Given the description of an element on the screen output the (x, y) to click on. 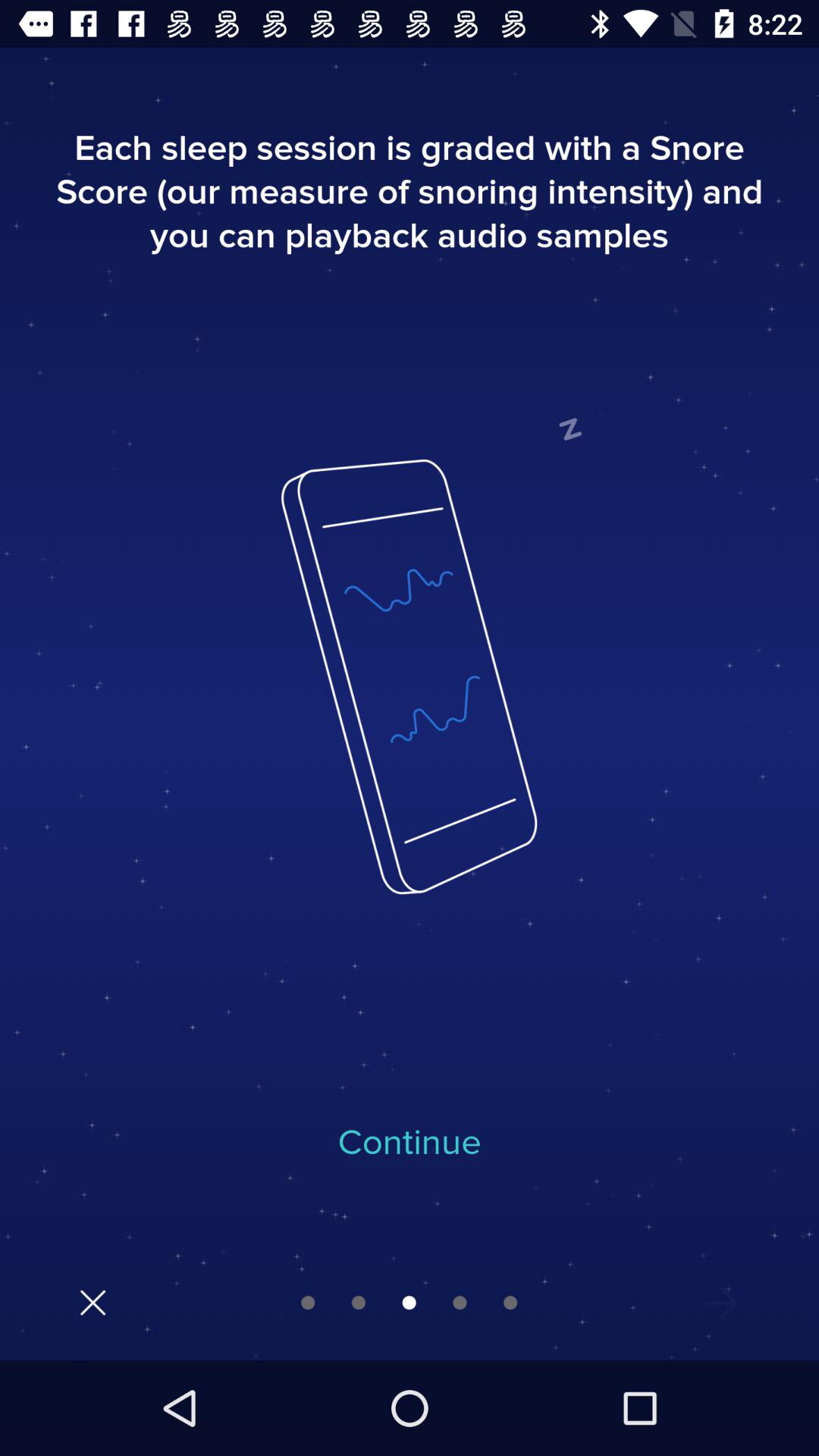
cross button (92, 1302)
